Given the description of an element on the screen output the (x, y) to click on. 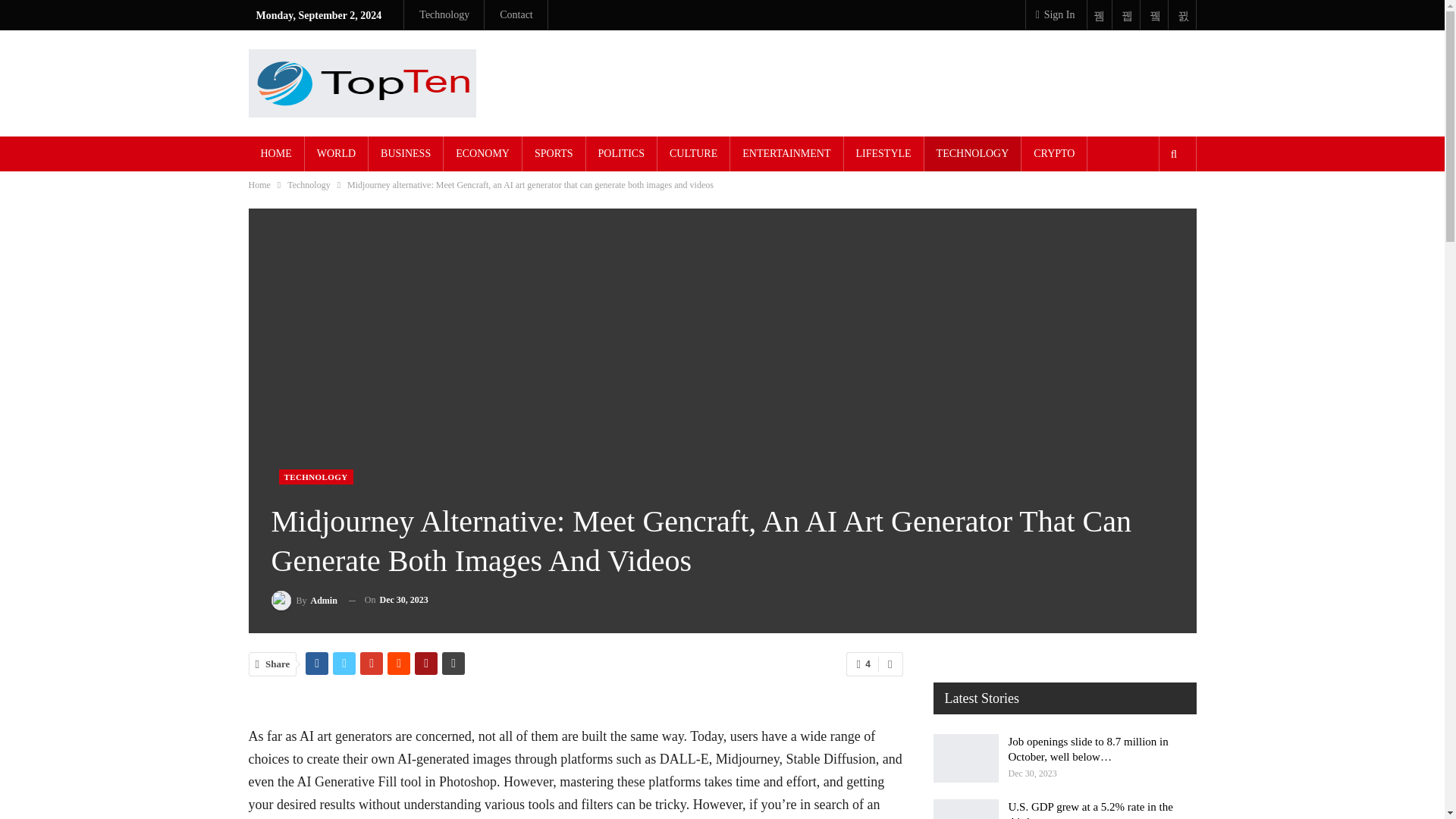
TECHNOLOGY (316, 476)
CRYPTO (1054, 153)
ECONOMY (482, 153)
Technology (308, 184)
Browse Author Articles (303, 599)
BUSINESS (405, 153)
LIFESTYLE (883, 153)
Sign In (1052, 15)
Home (259, 184)
Technology (443, 14)
